Given the description of an element on the screen output the (x, y) to click on. 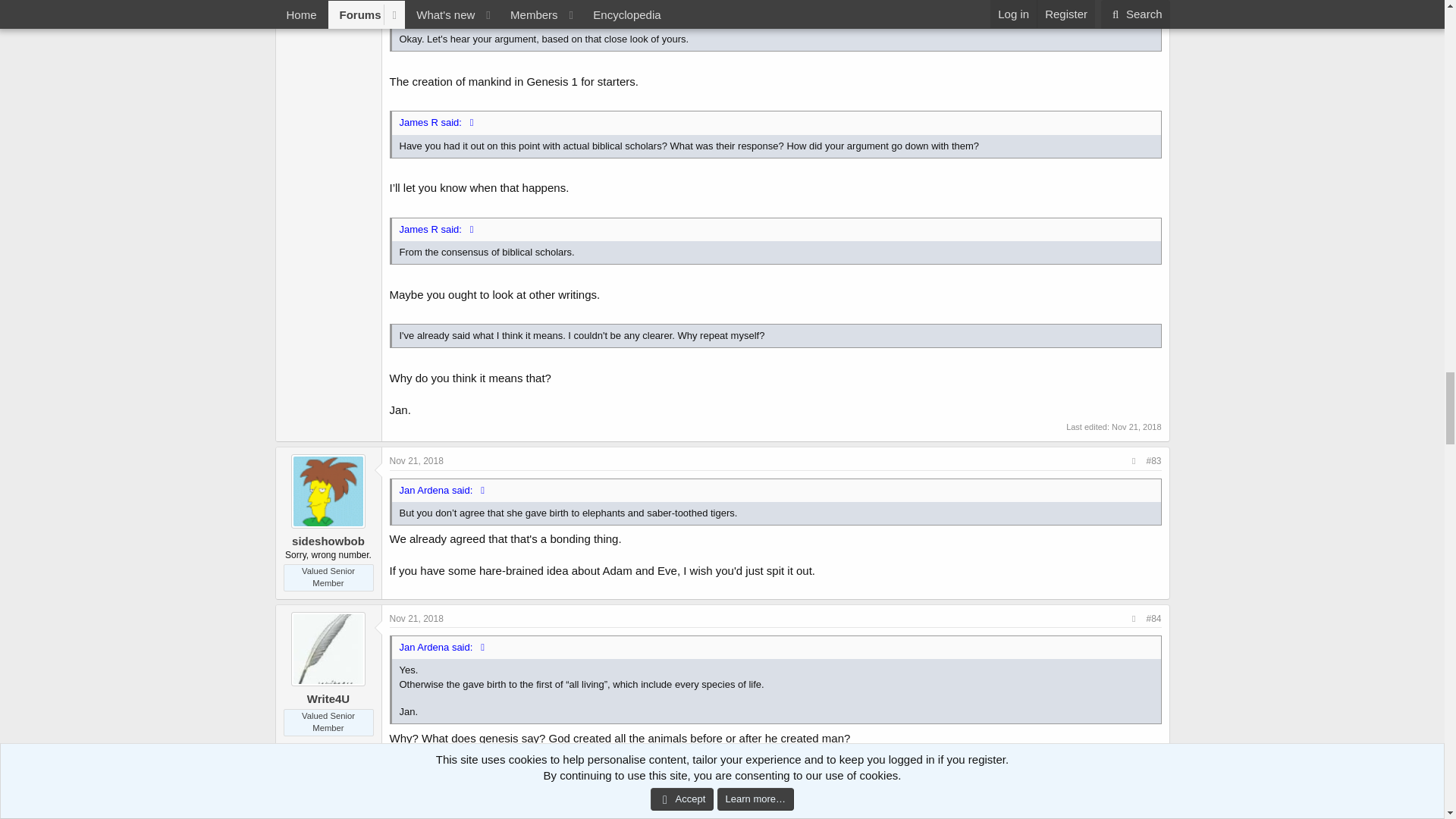
Nov 21, 2018 at 2:51 PM (1136, 426)
Nov 21, 2018 at 6:16 PM (417, 773)
Nov 21, 2018 at 4:43 PM (417, 460)
Nov 21, 2018 at 5:54 PM (417, 617)
